Given the description of an element on the screen output the (x, y) to click on. 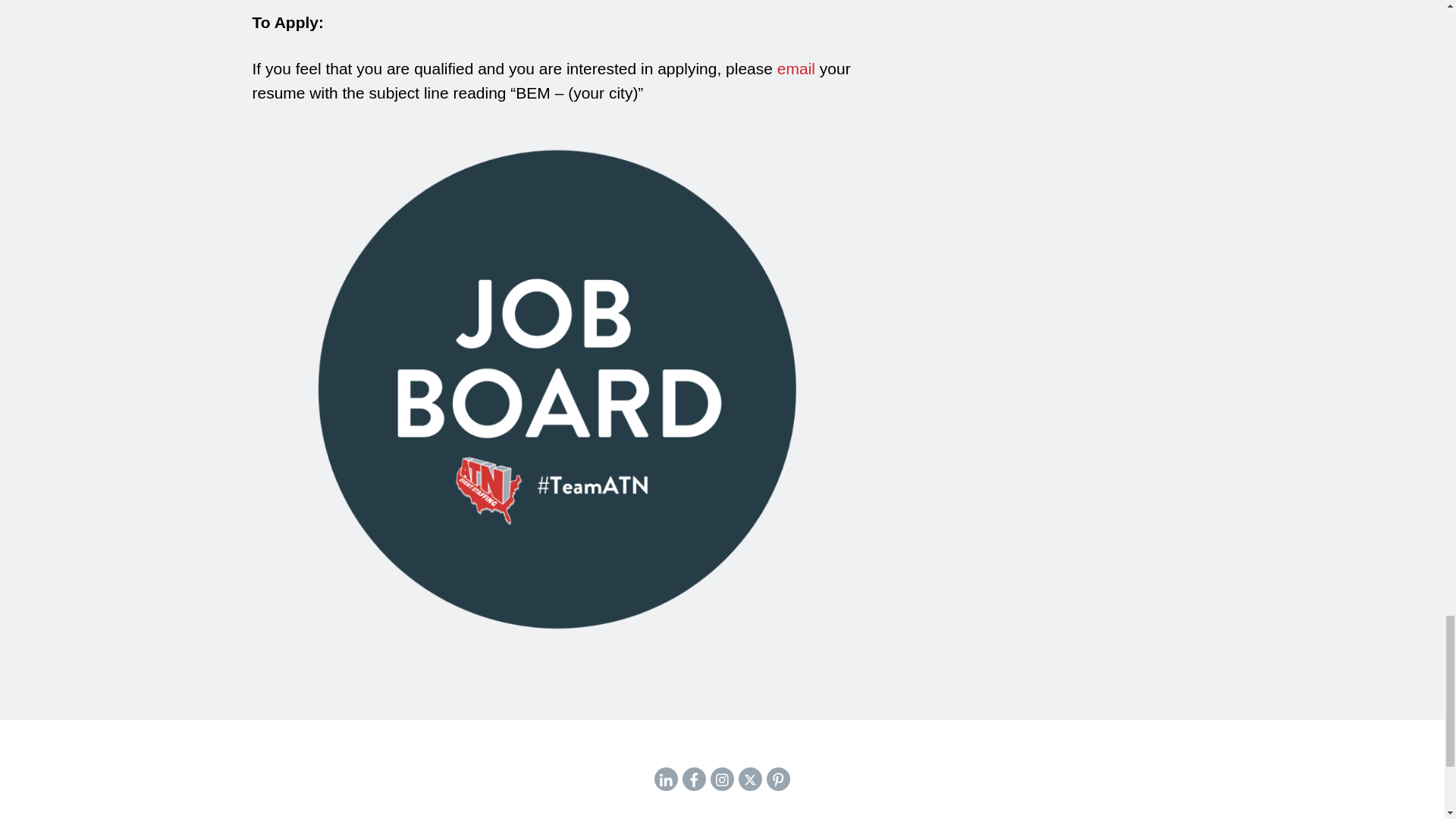
email (796, 67)
